Given the description of an element on the screen output the (x, y) to click on. 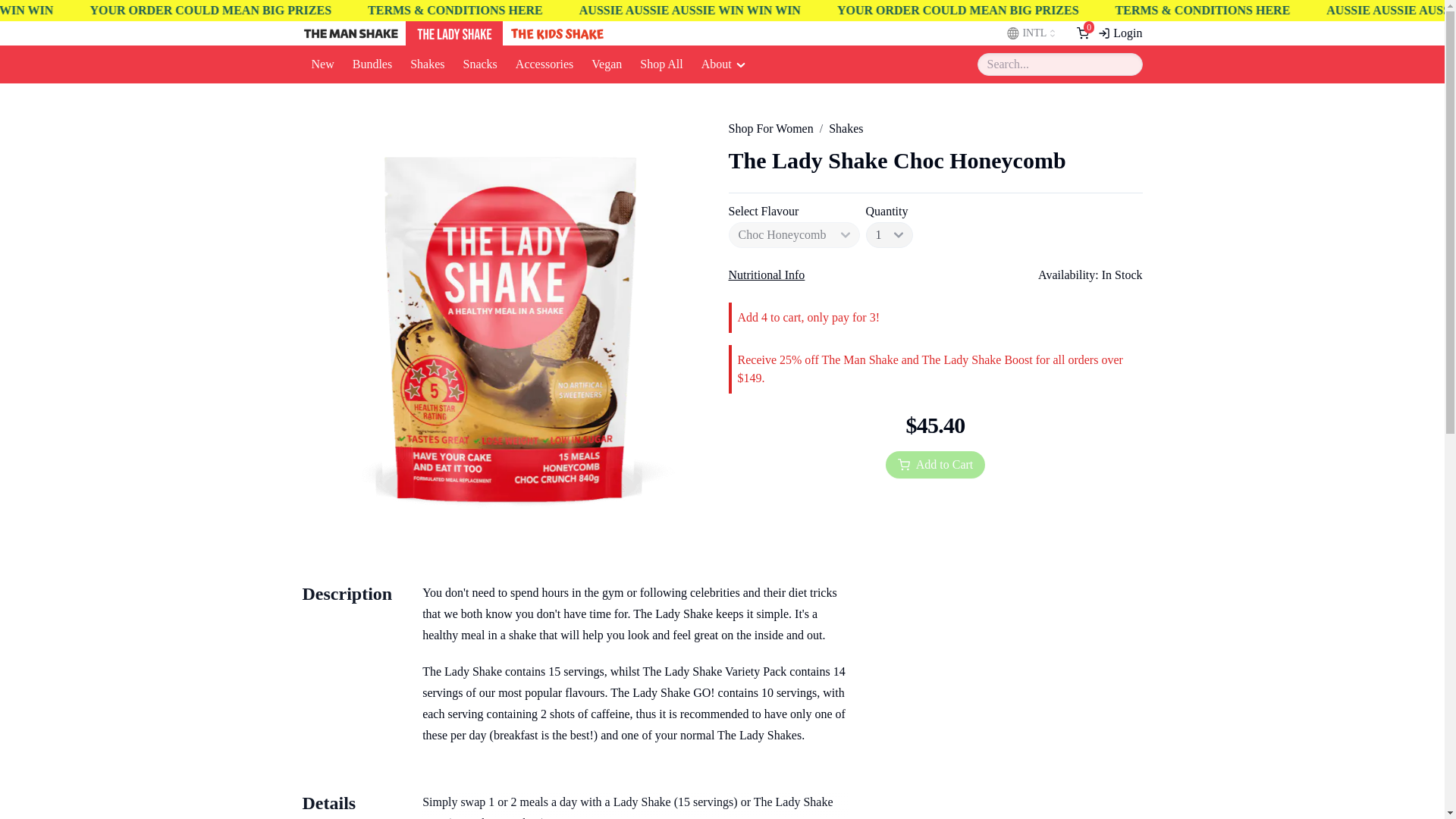
Shop For Women (770, 128)
Bundles (372, 64)
Shakes (845, 128)
Snacks (478, 64)
Shop All (660, 64)
Add to Cart (935, 464)
Nutritional Info (766, 274)
Shakes (426, 64)
New (321, 64)
Login (1119, 33)
Accessories (544, 64)
INTL (1032, 33)
0 (1083, 33)
About (724, 64)
Vegan (606, 64)
